Given the description of an element on the screen output the (x, y) to click on. 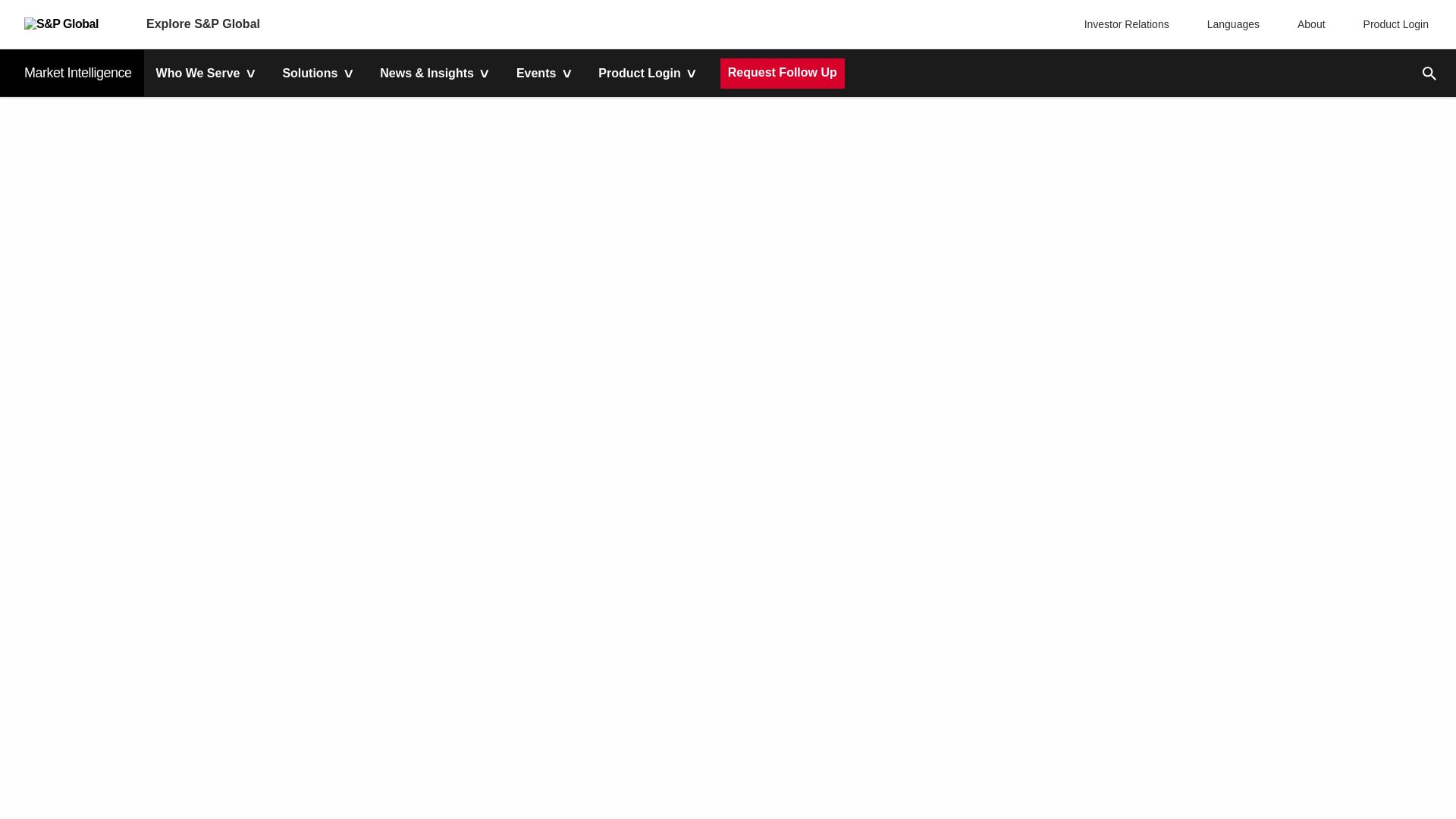
Product Login (1392, 24)
About (1307, 24)
Languages (1230, 24)
Investor Relations (1129, 24)
